Given the description of an element on the screen output the (x, y) to click on. 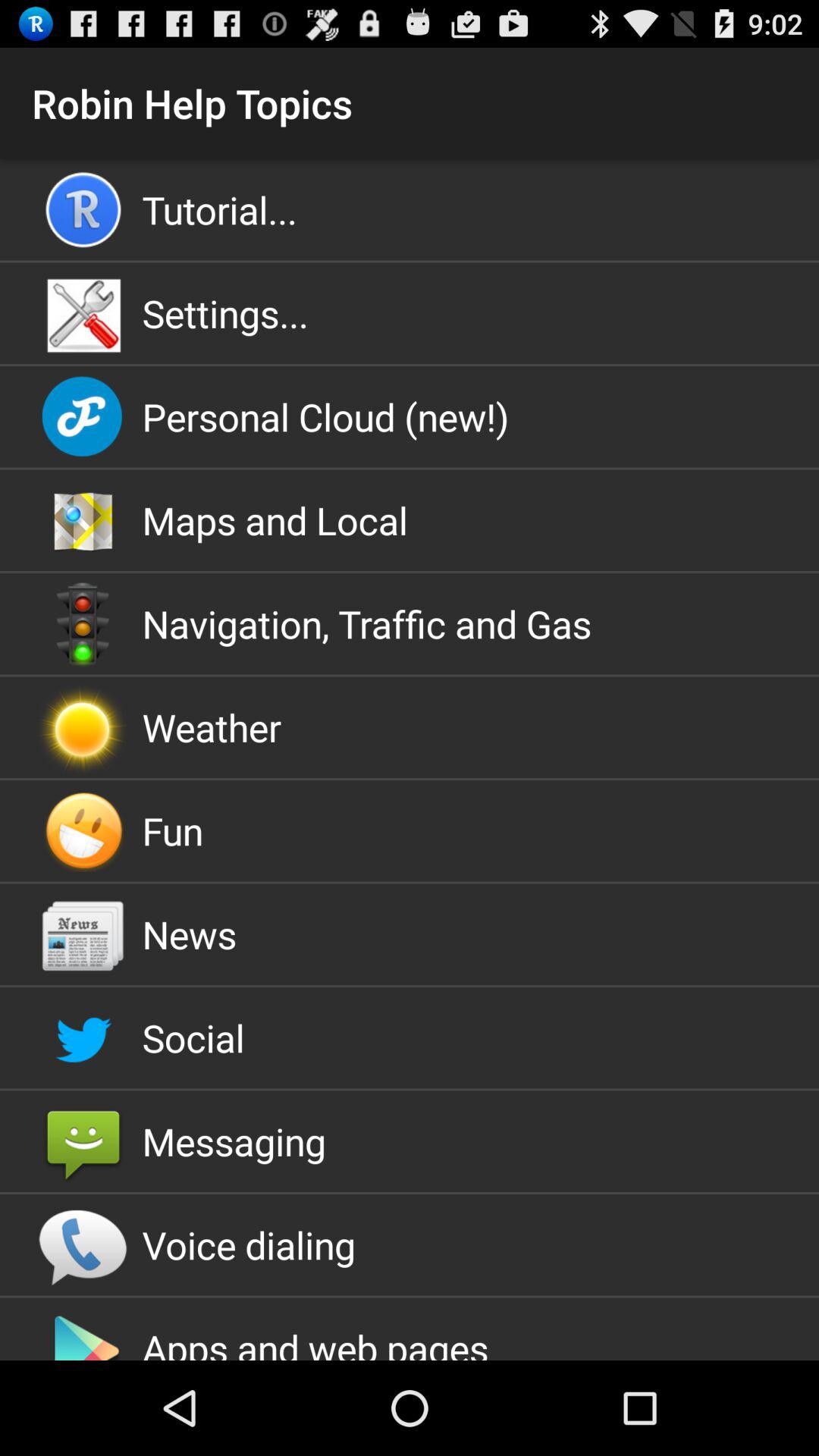
open the item above  settings... (409, 209)
